Given the description of an element on the screen output the (x, y) to click on. 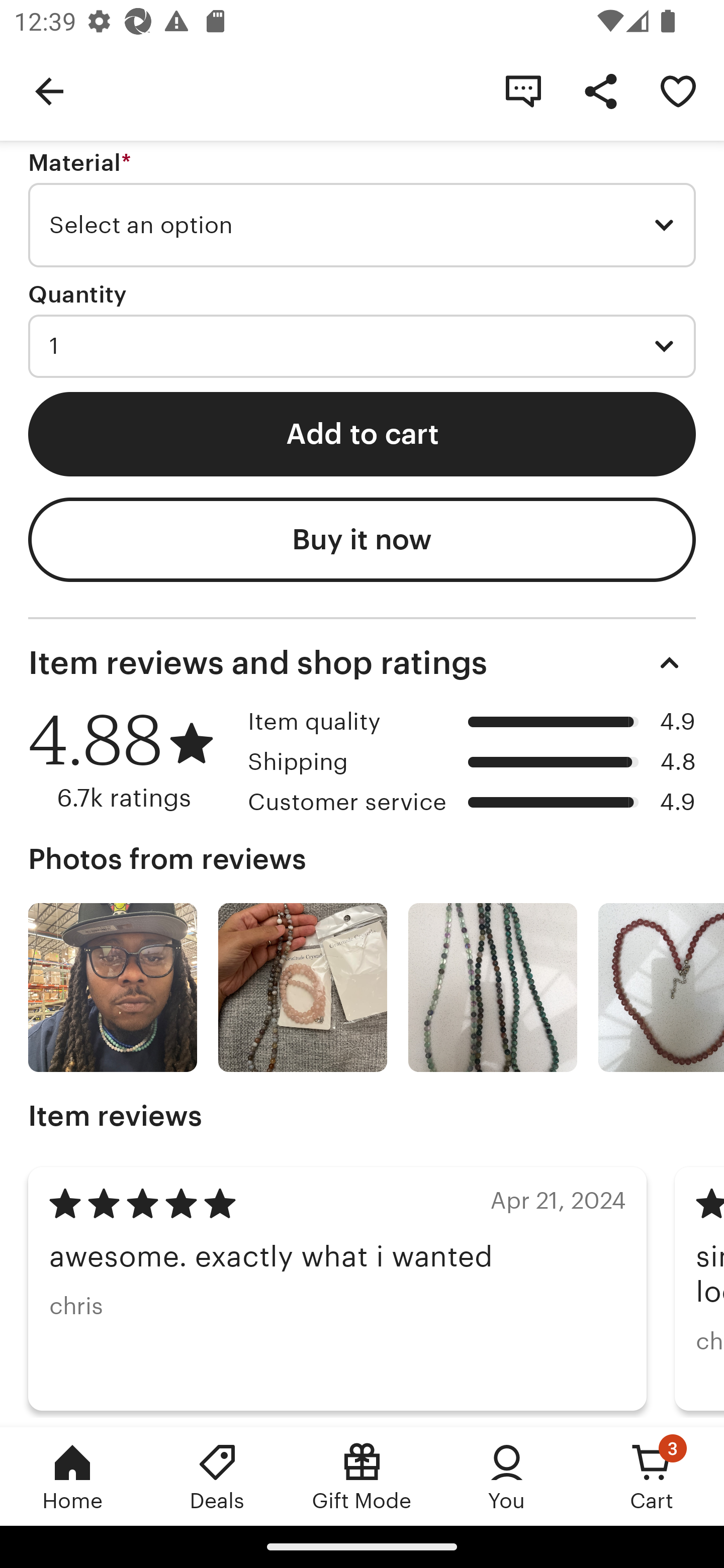
Navigate up (49, 90)
Contact shop (523, 90)
Share (600, 90)
Material * Required Select an option (361, 209)
Select an option (361, 225)
Quantity (77, 293)
1 (361, 346)
Add to cart (361, 434)
Buy it now (361, 539)
Item reviews and shop ratings (362, 662)
4.88 6.7k ratings (130, 760)
Photo from review (112, 987)
Photo from review (302, 987)
Photo from review (492, 987)
Photo from review (661, 987)
Deals (216, 1475)
Gift Mode (361, 1475)
You (506, 1475)
Cart, 3 new notifications Cart (651, 1475)
